Given the description of an element on the screen output the (x, y) to click on. 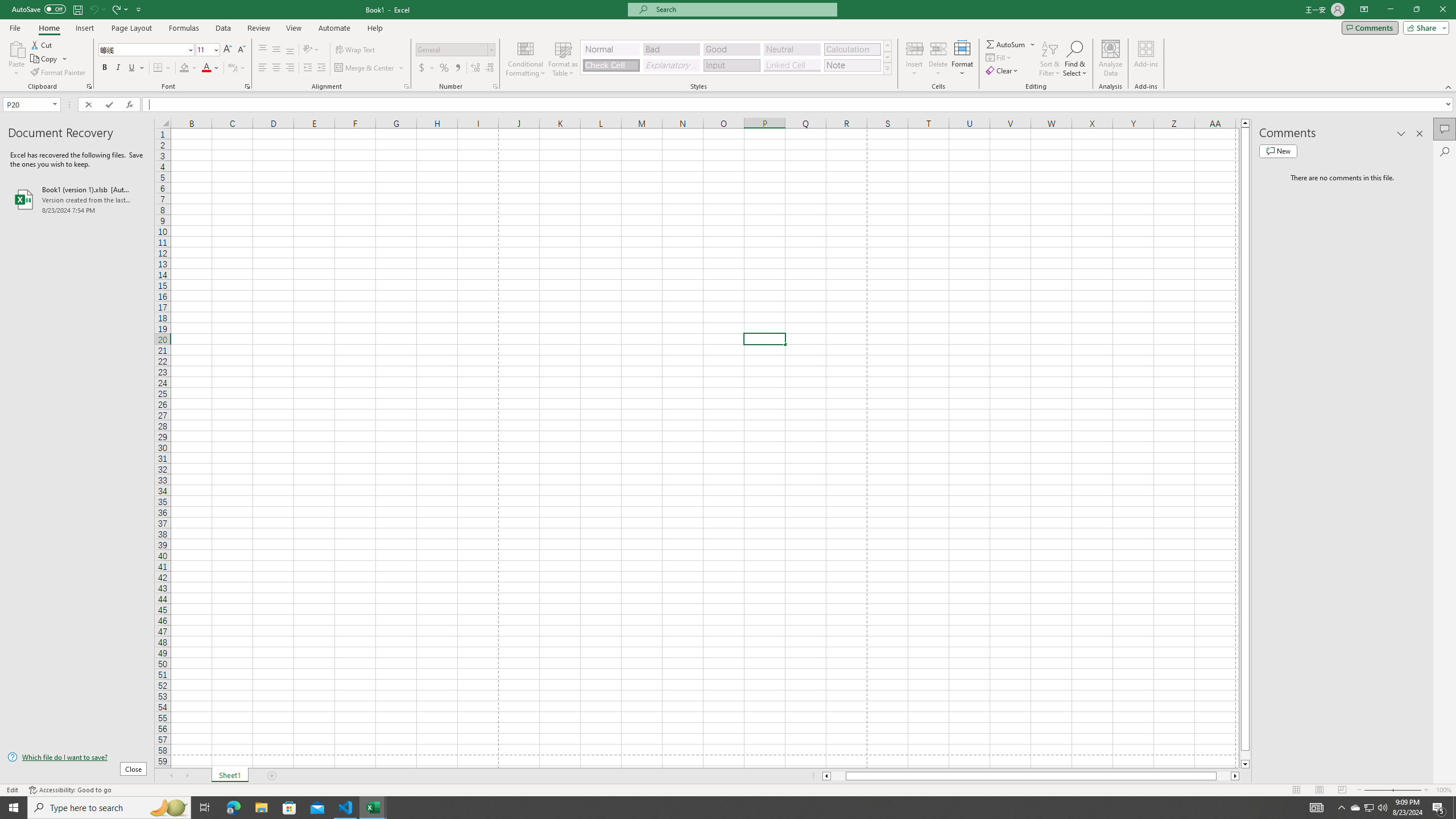
Explanatory Text (671, 65)
File Tab (15, 27)
Find & Select (1075, 58)
Save (77, 9)
Format Painter (58, 72)
Underline (136, 67)
Help (374, 28)
Increase Font Size (227, 49)
Format (962, 58)
More Options (1033, 44)
Decrease Font Size (240, 49)
Page Break Preview (1342, 790)
Class: NetUIScrollBar (1030, 775)
